Given the description of an element on the screen output the (x, y) to click on. 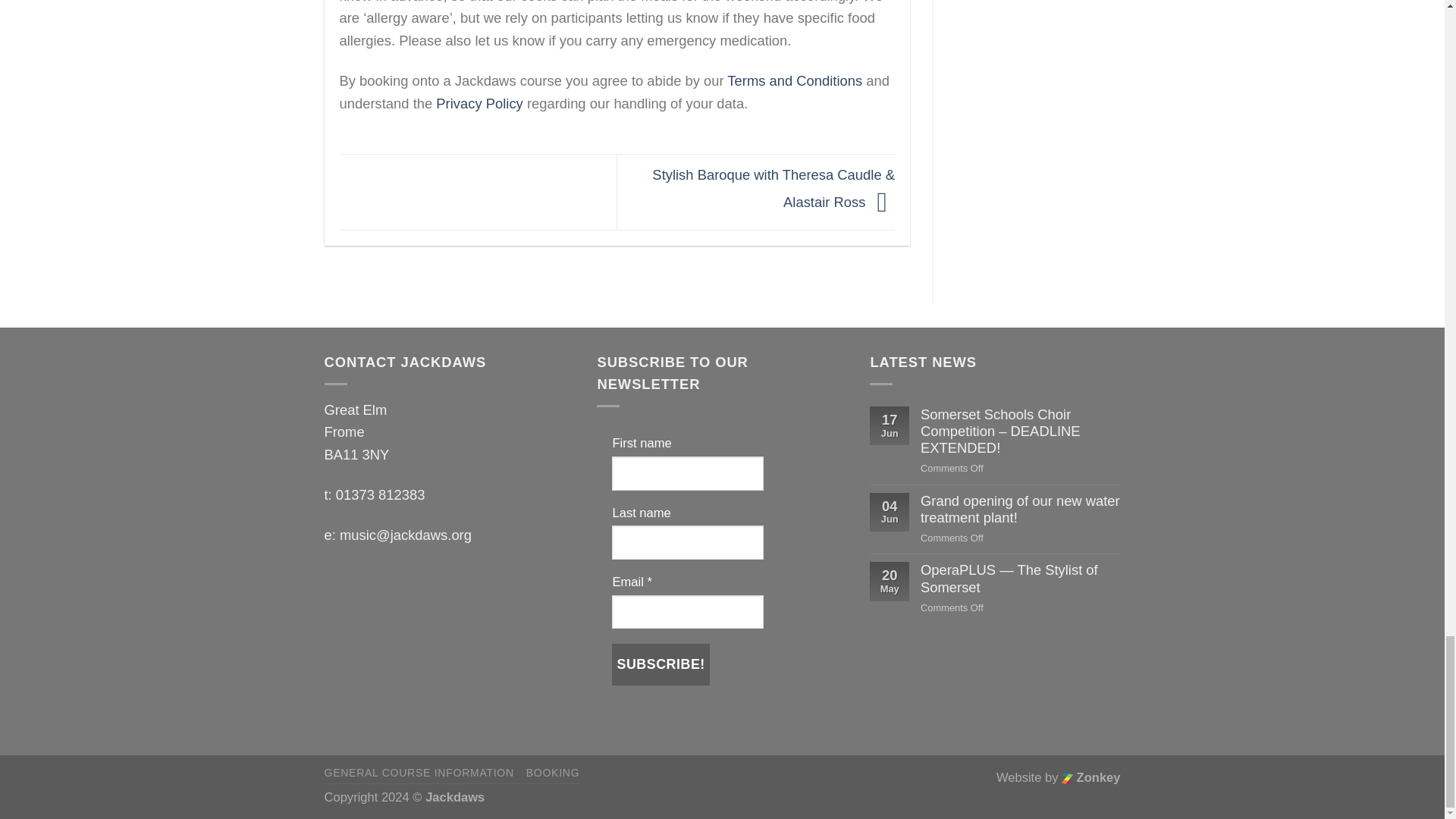
Grand opening of our new water treatment plant! (1019, 509)
Subscribe! (660, 664)
Last name (686, 542)
Email (686, 612)
First name (686, 473)
